Given the description of an element on the screen output the (x, y) to click on. 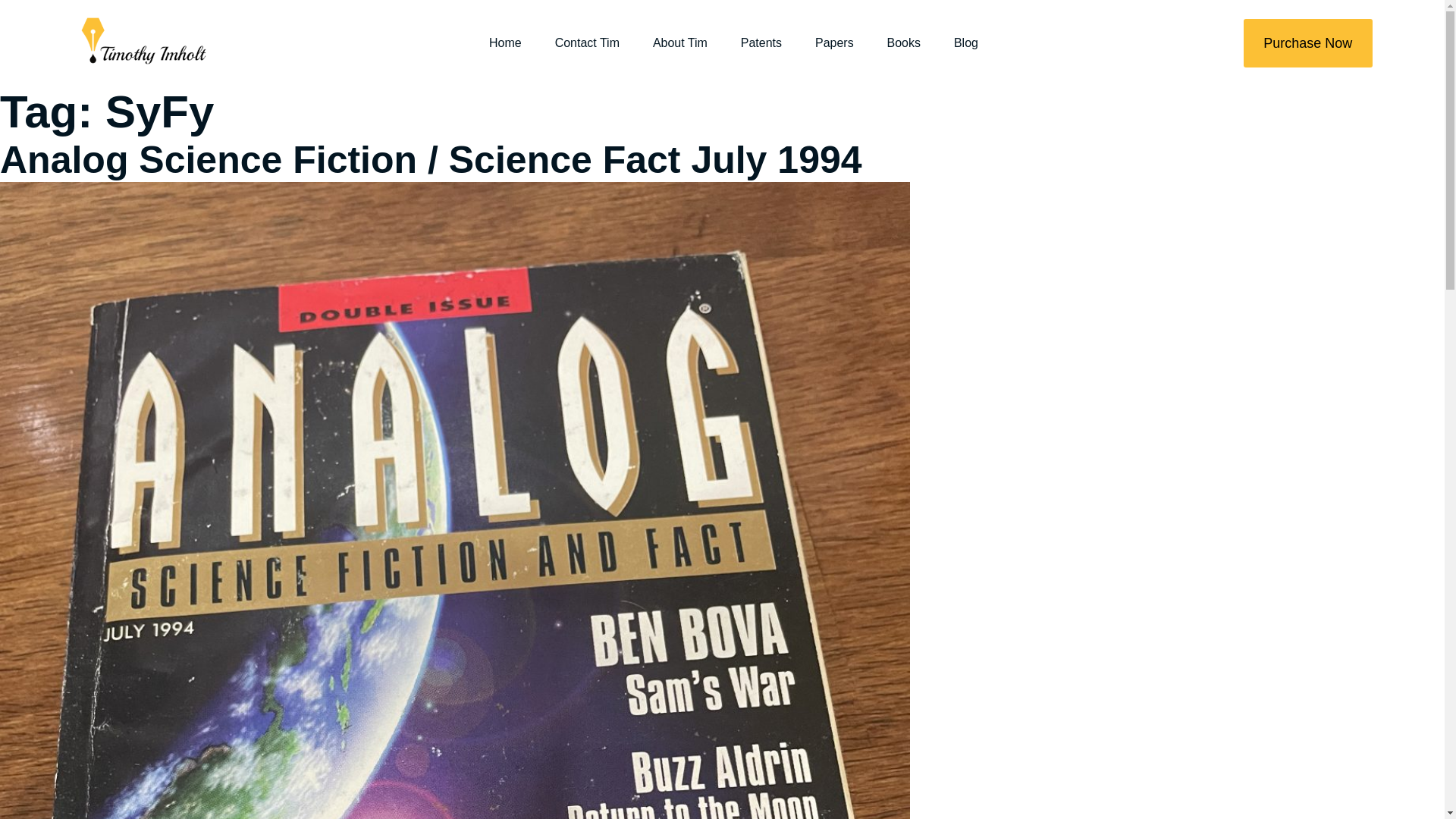
Patents (761, 42)
About Tim (679, 42)
Contact Tim (587, 42)
Timothy Imholt (139, 43)
Books (903, 42)
Papers (834, 42)
Home (505, 42)
Purchase Now (1308, 42)
Blog (965, 42)
